Given the description of an element on the screen output the (x, y) to click on. 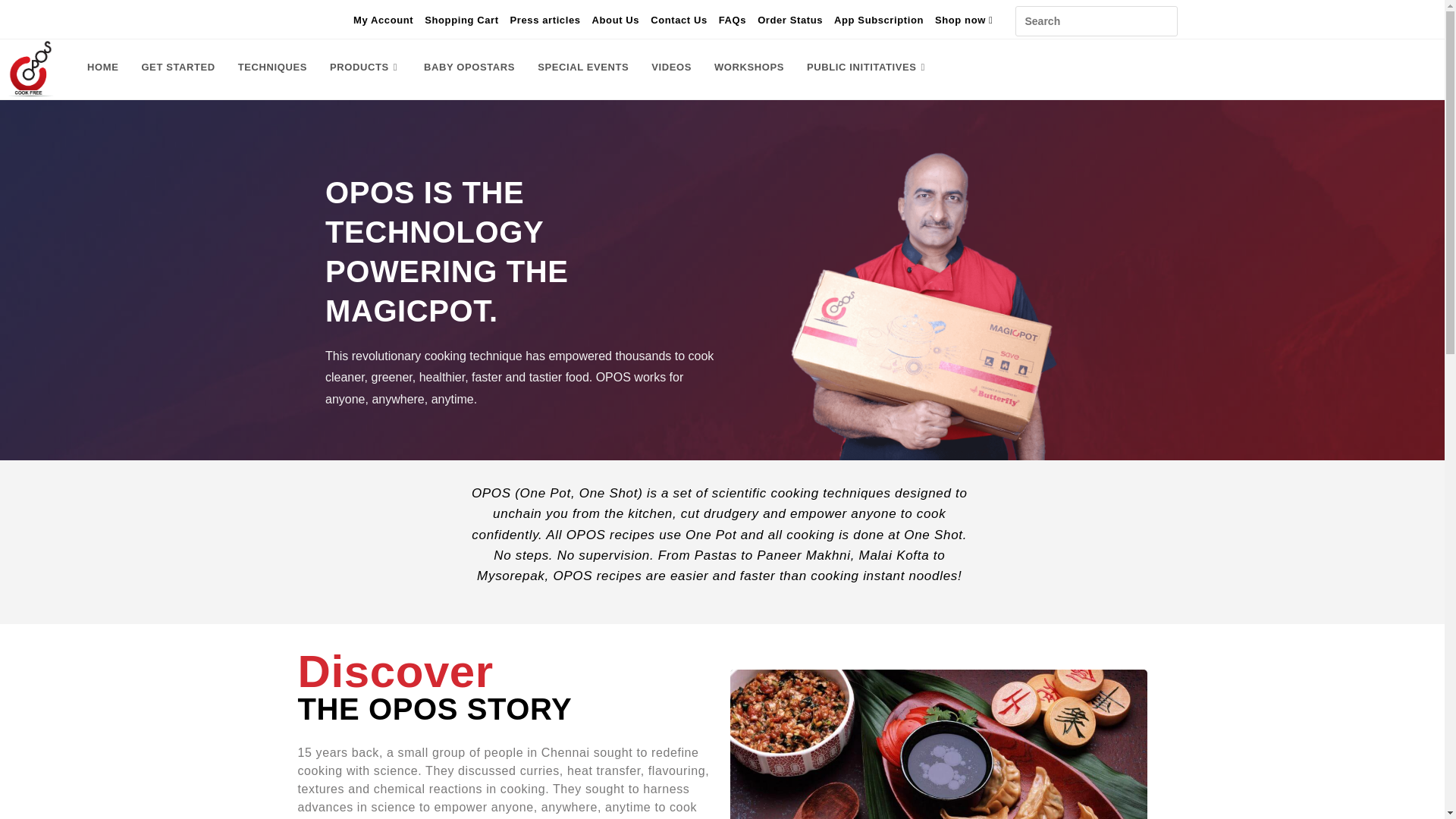
BABY OPOSTARS (468, 67)
VIDEOS (671, 67)
TECHNIQUES (272, 67)
About Us (616, 20)
Contact Us (678, 20)
Shop now (964, 20)
PUBLIC INITITATIVES (867, 67)
PRODUCTS (365, 67)
My Account (383, 20)
SPECIAL EVENTS (582, 67)
FAQs (732, 20)
Order Status (789, 20)
Press articles (545, 20)
WORKSHOPS (748, 67)
Shopping Cart (461, 20)
